Given the description of an element on the screen output the (x, y) to click on. 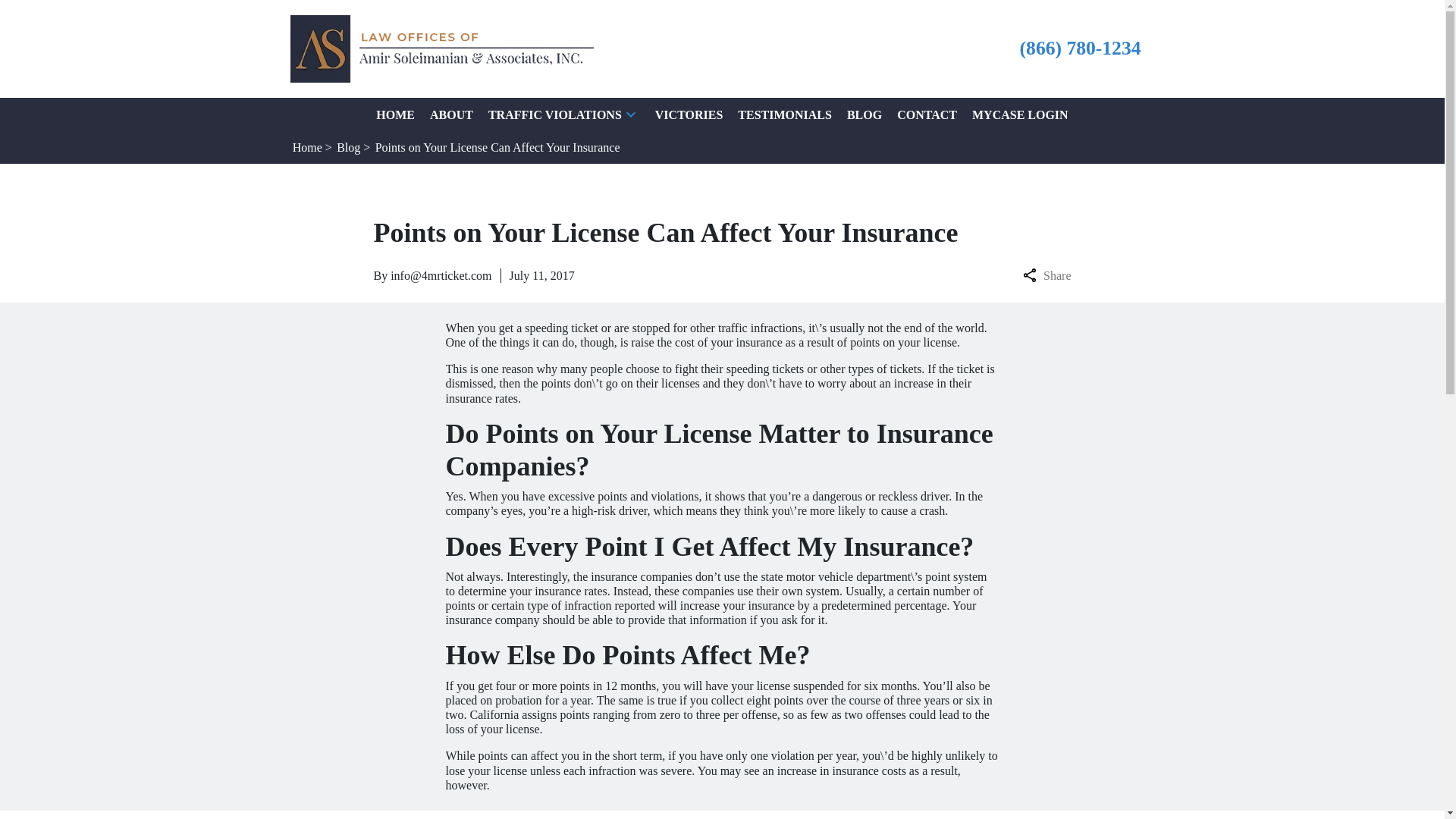
TRAFFIC VIOLATIONS (554, 114)
CONTACT (926, 114)
BLOG (864, 114)
ABOUT (451, 114)
Points on Your License Can Affect Your Insurance (497, 147)
TESTIMONIALS (784, 114)
VICTORIES (689, 114)
Share (1046, 275)
HOME (394, 114)
MYCASE LOGIN (1020, 114)
